Given the description of an element on the screen output the (x, y) to click on. 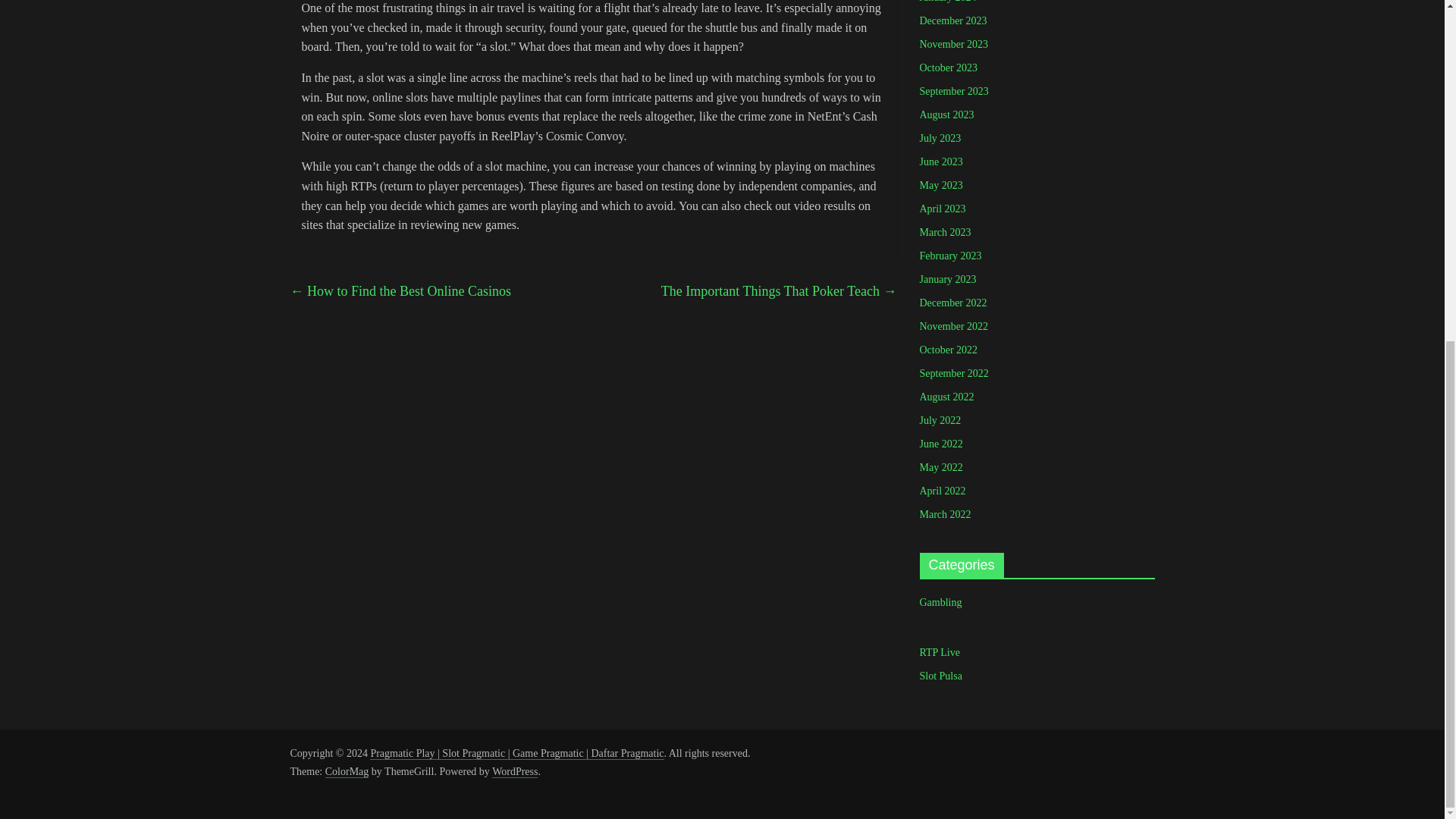
November 2022 (953, 326)
WordPress (514, 771)
October 2022 (947, 349)
July 2023 (939, 138)
April 2023 (941, 208)
December 2022 (952, 302)
January 2024 (946, 1)
October 2023 (947, 67)
June 2023 (940, 161)
February 2023 (949, 255)
